Given the description of an element on the screen output the (x, y) to click on. 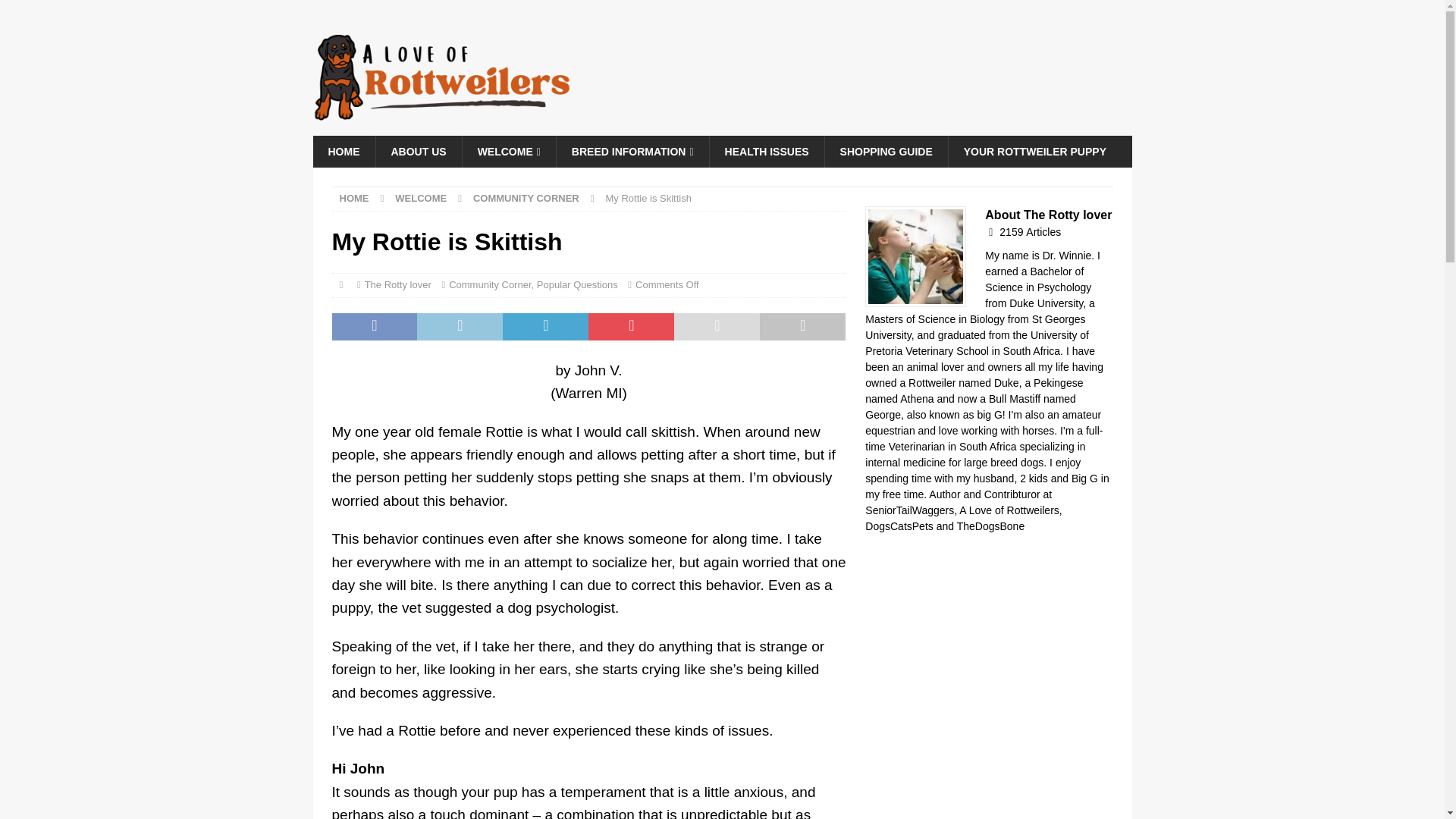
Community Corner (489, 284)
HOME (343, 151)
HOME (354, 197)
More articles written by The Rotty lover' (1029, 232)
BREED INFORMATION (632, 151)
HEALTH ISSUES (766, 151)
YOUR ROTTWEILER PUPPY (1034, 151)
SHOPPING GUIDE (885, 151)
COMMUNITY CORNER (526, 197)
WELCOME (420, 197)
The Rotty lover (397, 284)
WELCOME (508, 151)
Popular Questions (577, 284)
ABOUT US (417, 151)
